Given the description of an element on the screen output the (x, y) to click on. 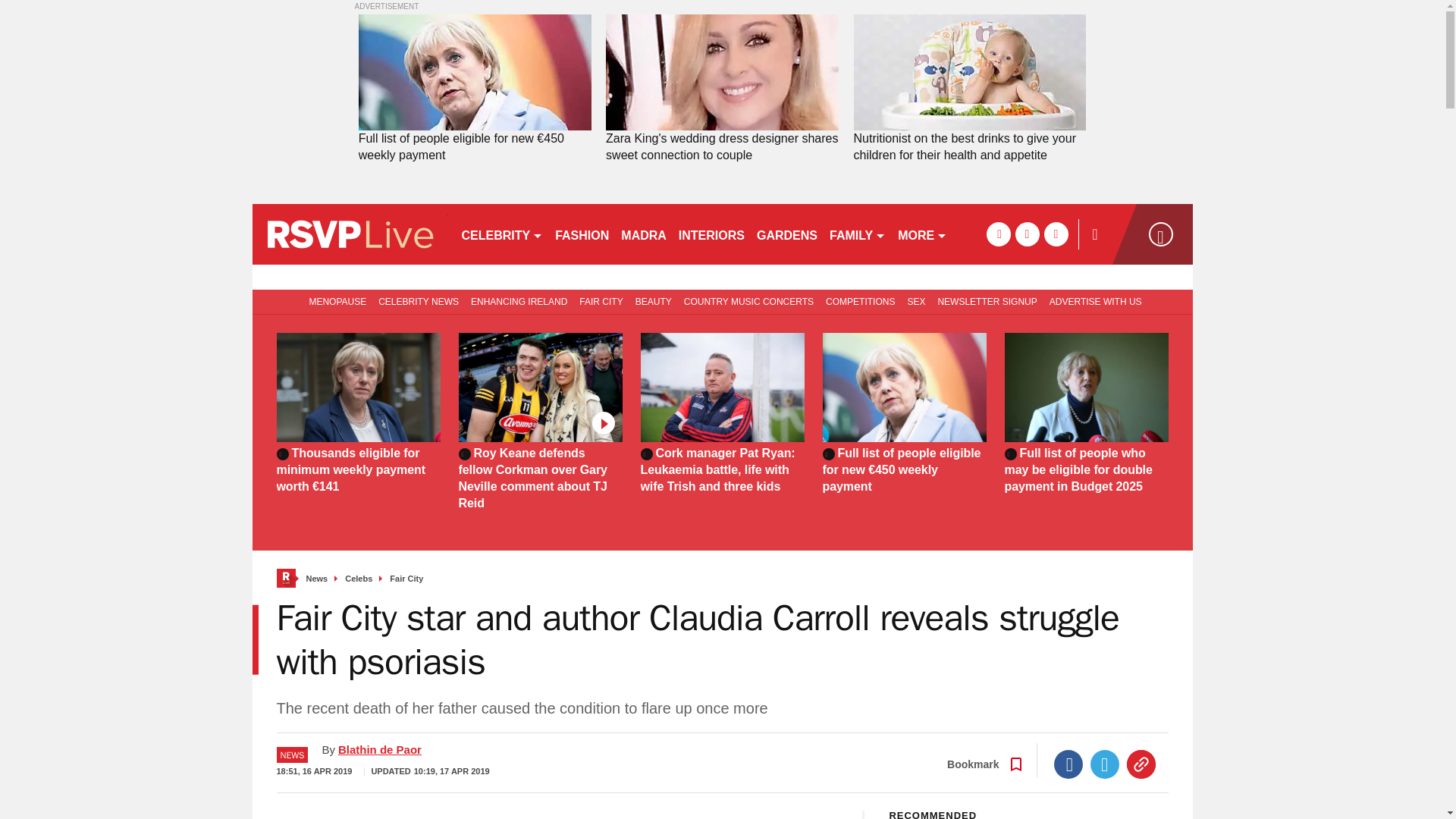
twitter (1026, 233)
CELEBRITY (501, 233)
GARDENS (787, 233)
FASHION (581, 233)
MORE (922, 233)
INTERIORS (711, 233)
rsvp (348, 233)
MADRA (643, 233)
instagram (1055, 233)
FAMILY (857, 233)
Facebook (1068, 764)
